Given the description of an element on the screen output the (x, y) to click on. 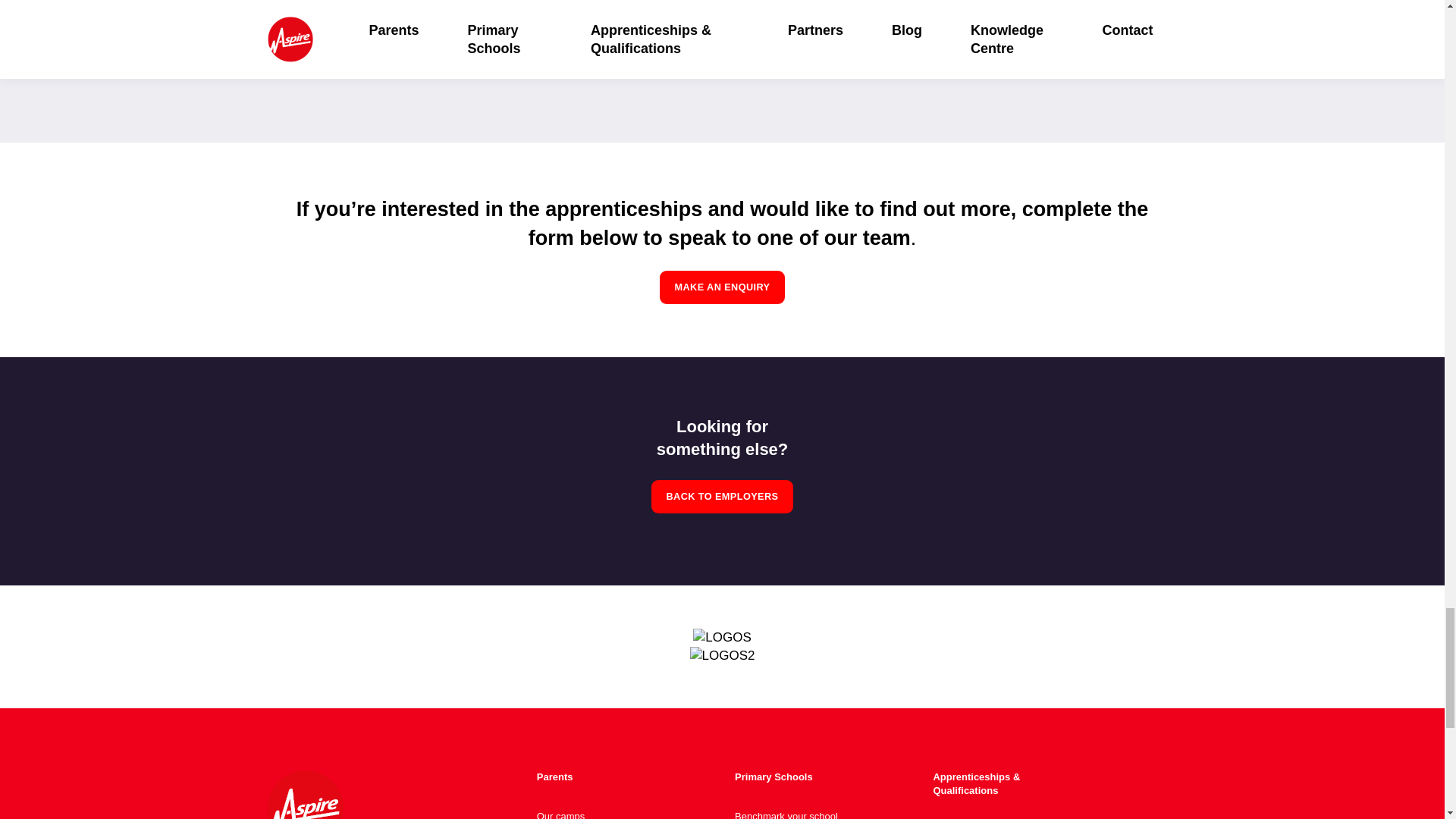
LOGOS2 (722, 656)
LOGOS (722, 637)
